Given the description of an element on the screen output the (x, y) to click on. 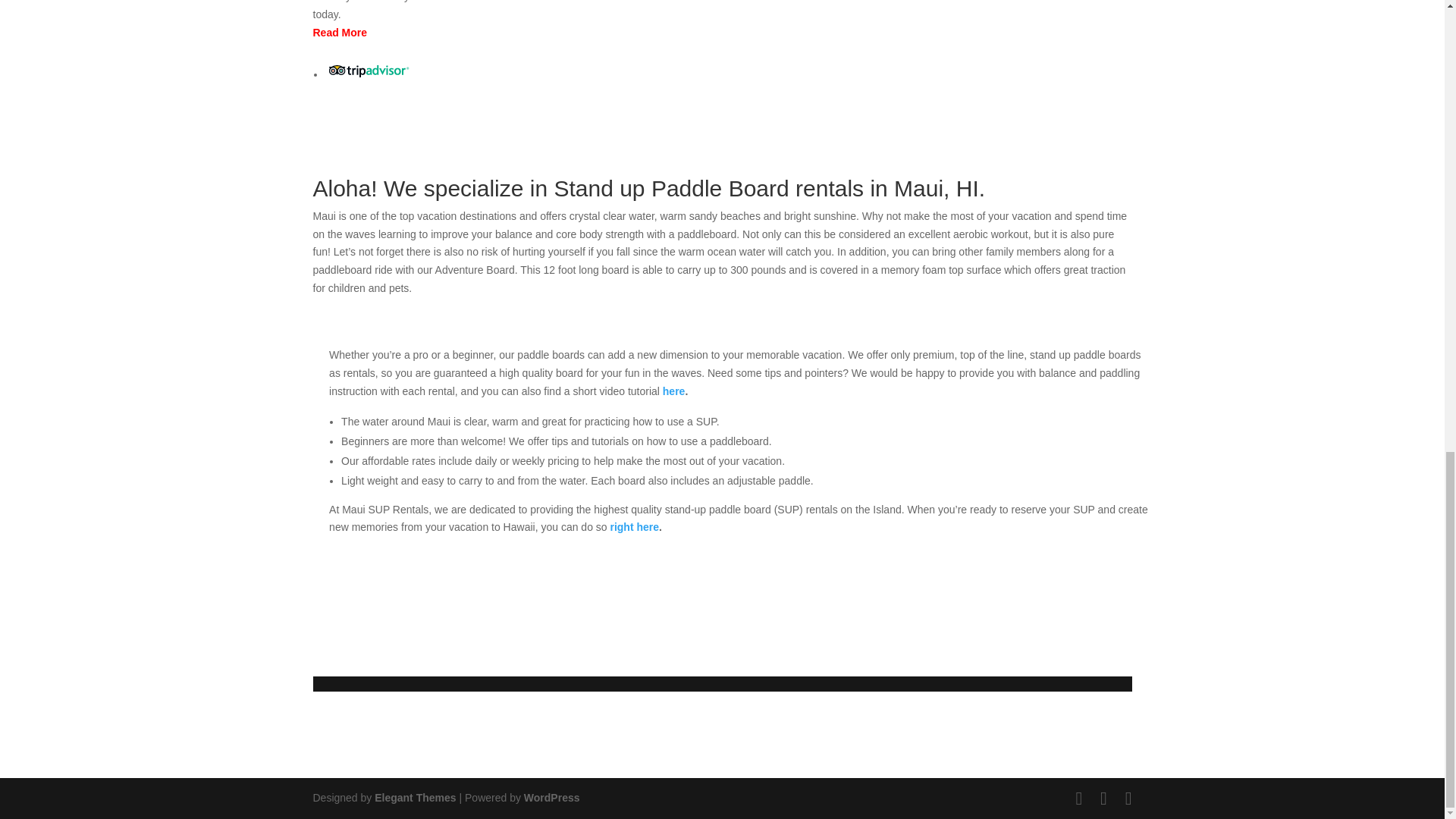
Read More (339, 32)
here (673, 390)
Premium WordPress Themes (414, 797)
WordPress (551, 797)
Elegant Themes (414, 797)
right here (634, 526)
